Given the description of an element on the screen output the (x, y) to click on. 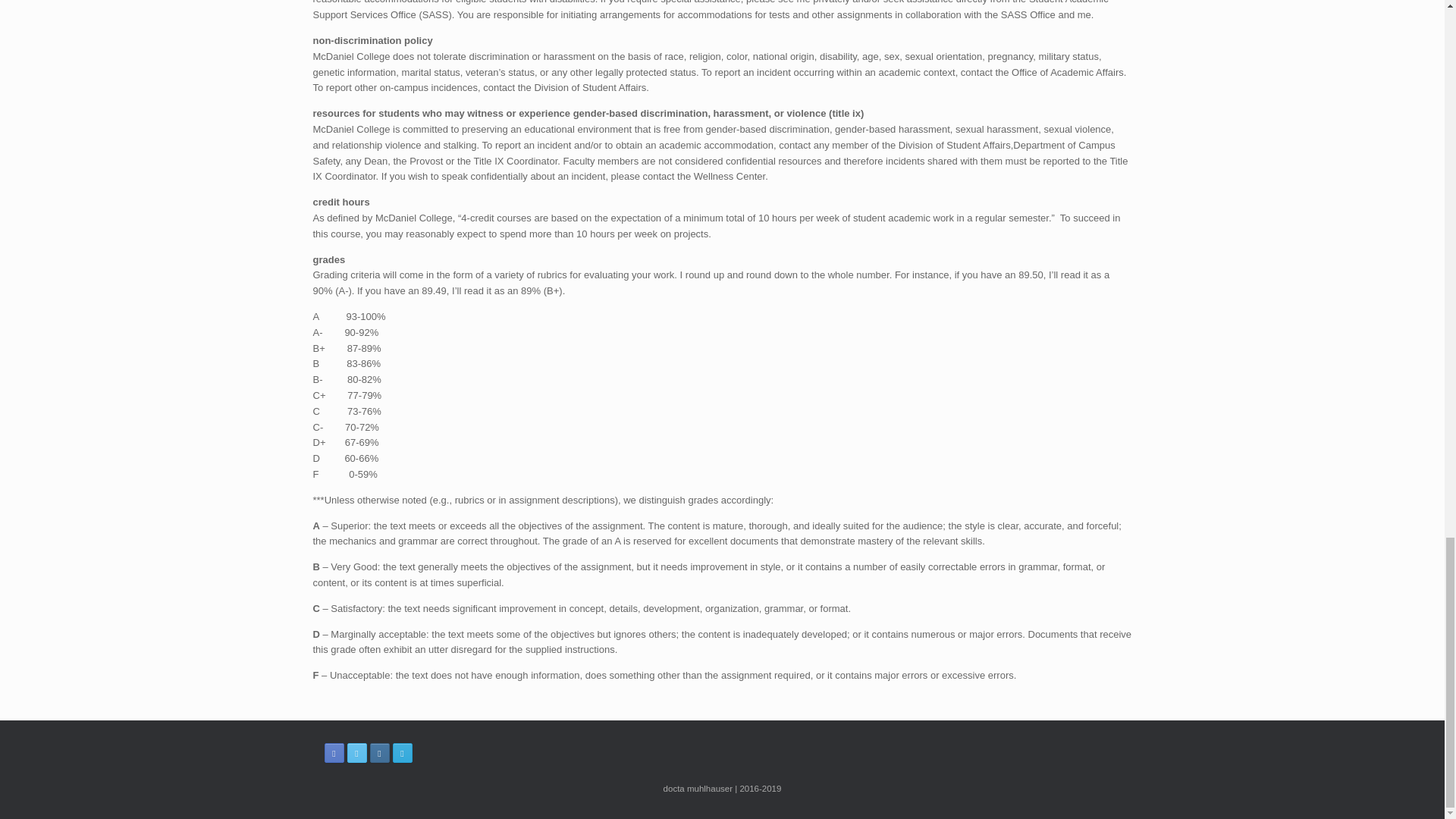
docta muhlhauser Twitter (356, 752)
docta muhlhauser Email (402, 752)
docta muhlhauser Instagram (379, 752)
docta muhlhauser Facebook (333, 752)
